Given the description of an element on the screen output the (x, y) to click on. 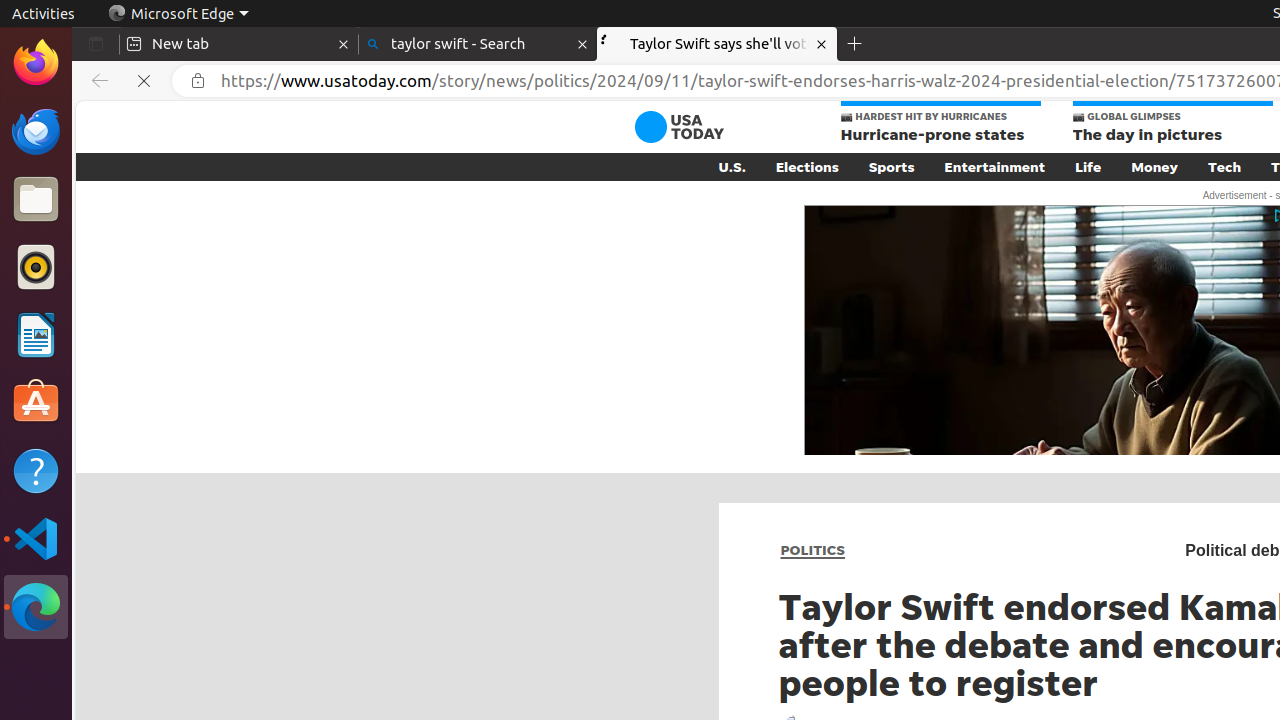
Money Element type: link (1155, 167)
Refresh Element type: push-button (144, 81)
Taylor Swift says she'll vote for Harris, Walz in 2024 election Element type: page-tab (717, 44)
Elections Element type: link (807, 167)
Life Element type: link (1088, 167)
